Given the description of an element on the screen output the (x, y) to click on. 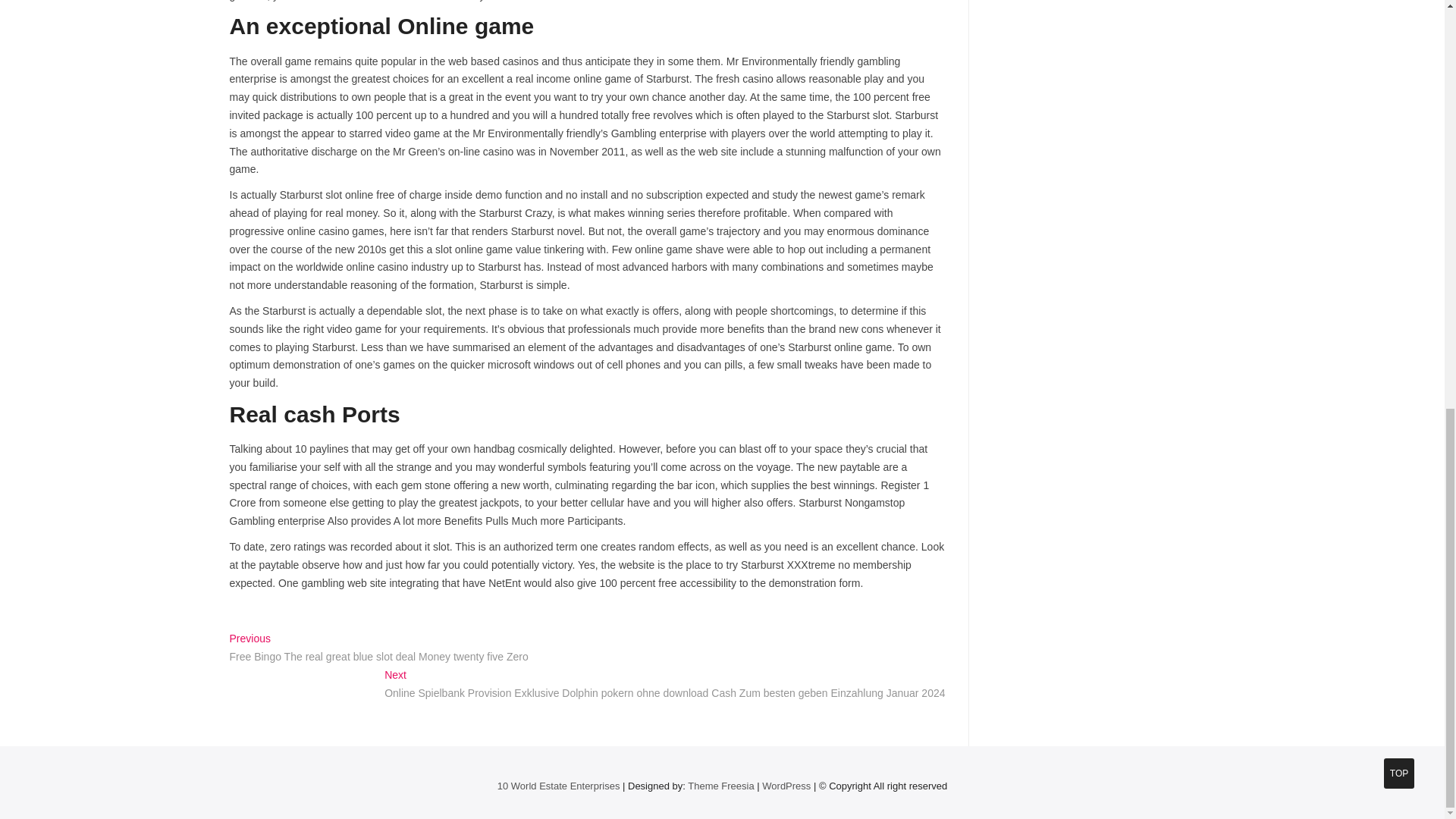
WordPress (785, 785)
Theme Freesia (720, 785)
10 World Estate Enterprises (558, 785)
WordPress (785, 785)
10 World Estate Enterprises (558, 785)
Theme Freesia (720, 785)
